Given the description of an element on the screen output the (x, y) to click on. 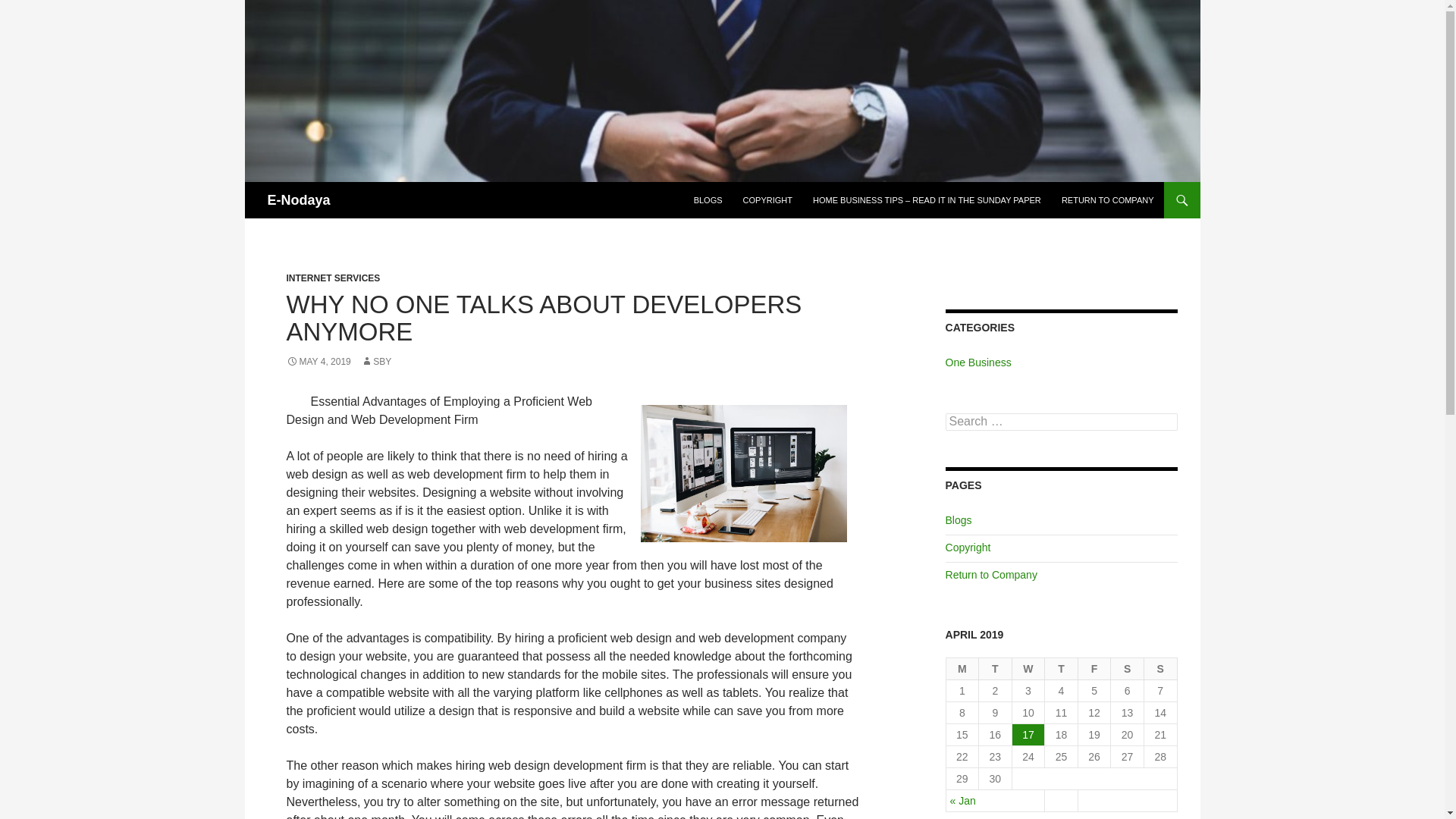
SBY (376, 361)
INTERNET SERVICES (333, 277)
Saturday (1127, 669)
Search (30, 8)
RETURN TO COMPANY (1107, 199)
Thursday (1061, 669)
Monday (962, 669)
One Business (977, 362)
E-Nodaya (298, 199)
Tuesday (994, 669)
COPYRIGHT (767, 199)
Return to Company (990, 574)
Friday (1095, 669)
Sunday (1160, 669)
MAY 4, 2019 (318, 361)
